Given the description of an element on the screen output the (x, y) to click on. 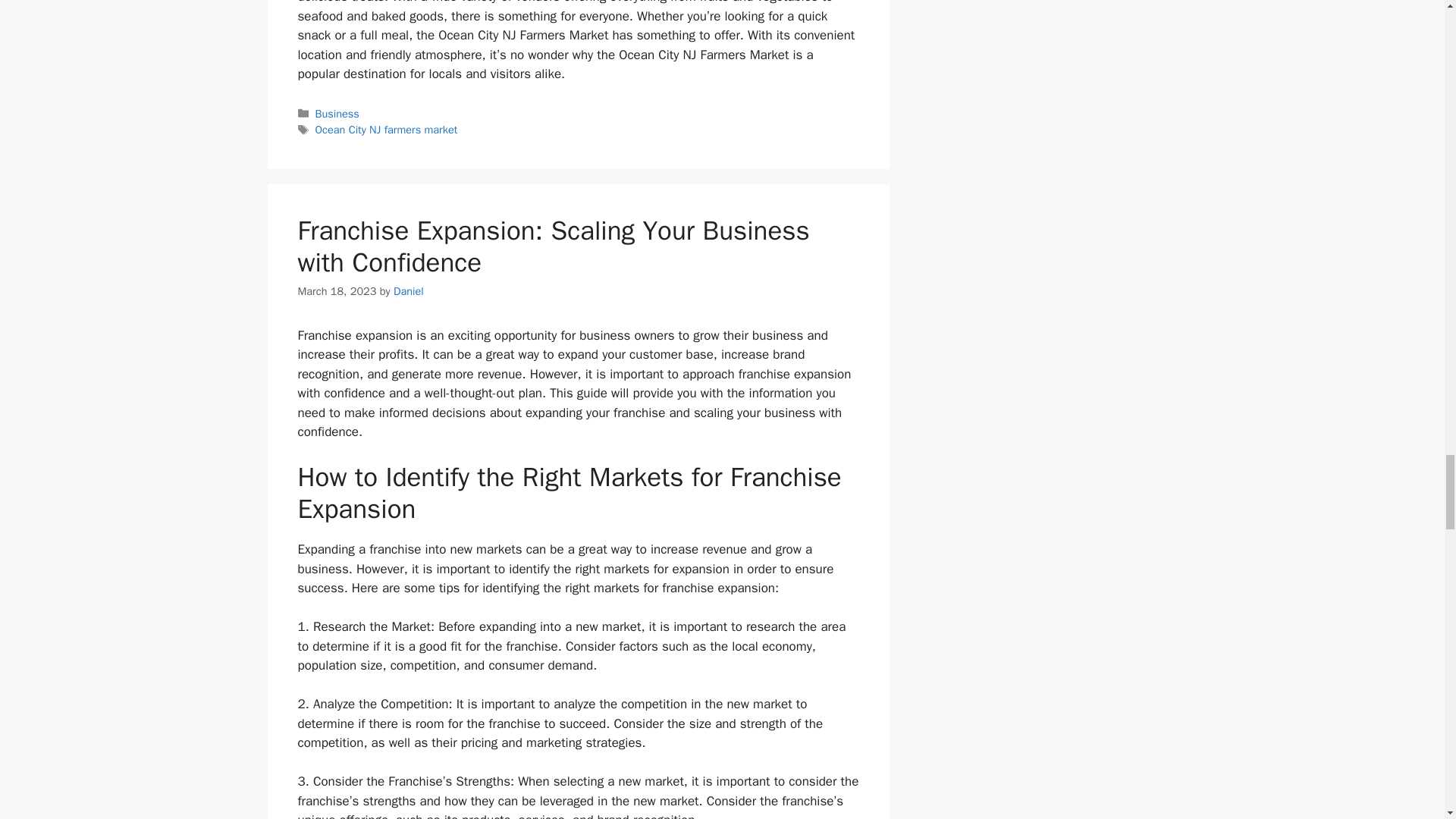
Business (337, 113)
View all posts by Daniel (408, 291)
Franchise Expansion: Scaling Your Business with Confidence (553, 246)
Ocean City NJ farmers market (386, 129)
Daniel (408, 291)
